Given the description of an element on the screen output the (x, y) to click on. 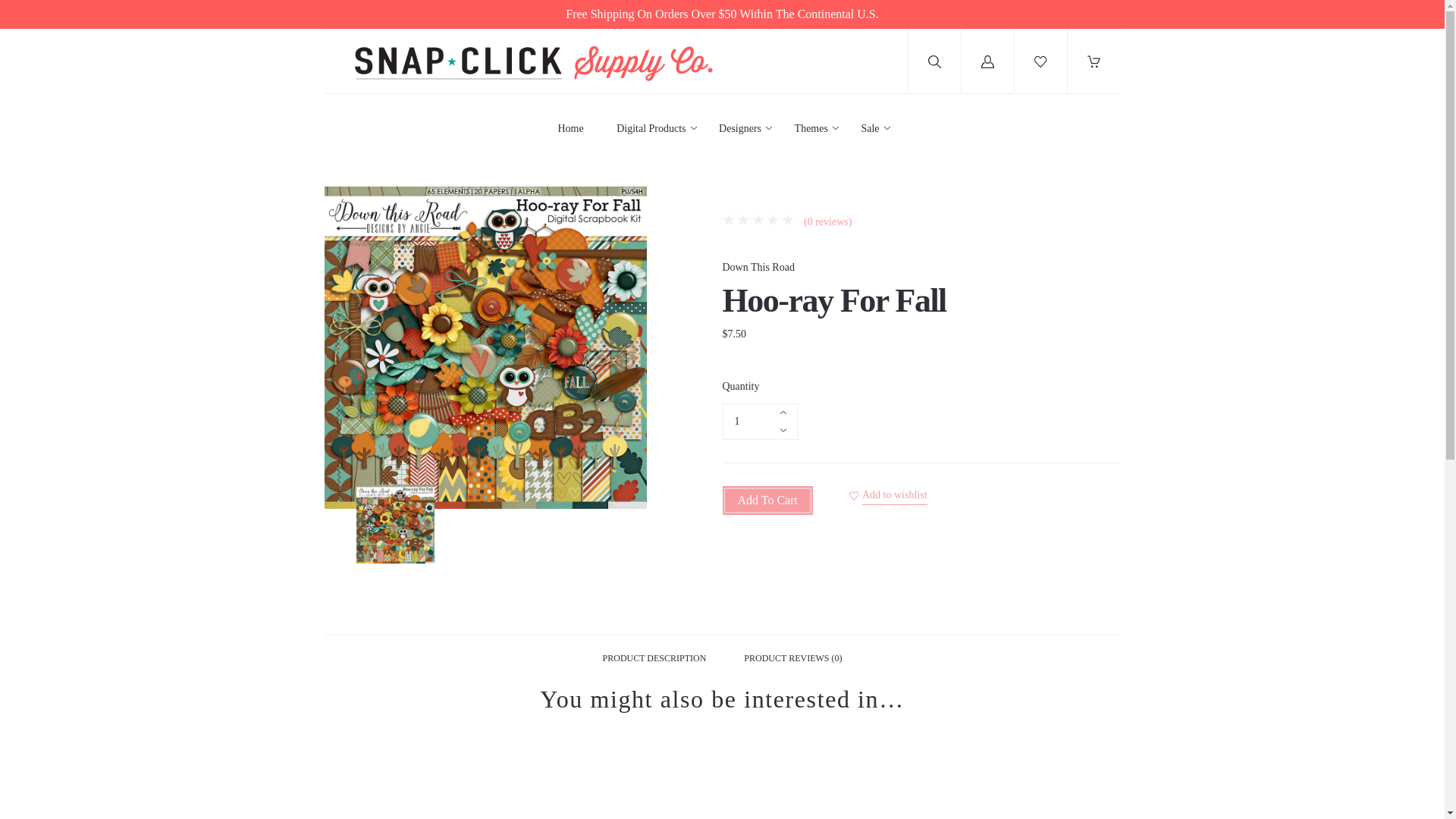
1 (759, 421)
Digital Products (650, 128)
Home (570, 128)
